Given the description of an element on the screen output the (x, y) to click on. 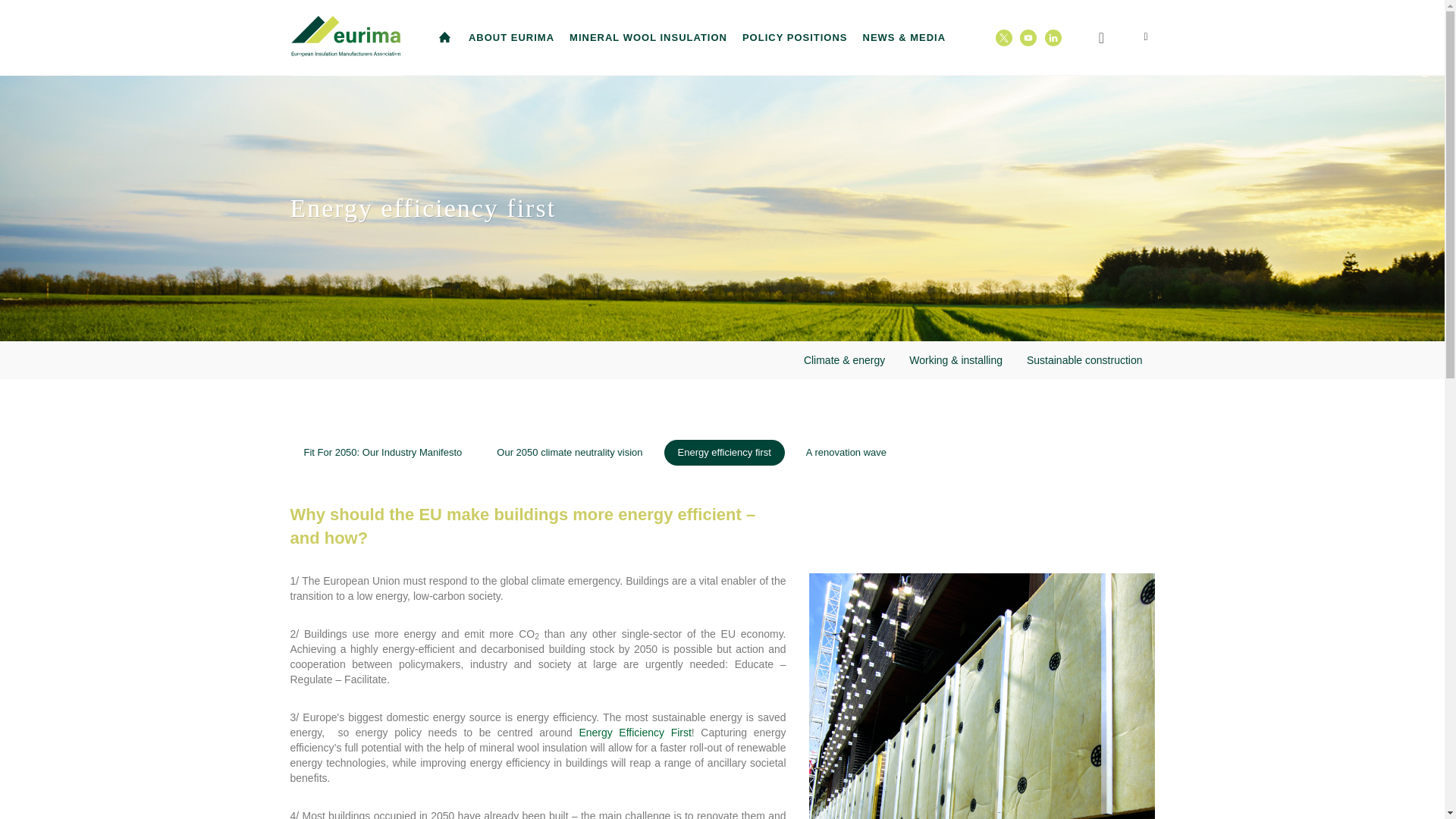
MINERAL WOOL INSULATION (648, 38)
ABOUT EURIMA (511, 38)
POLICY POSITIONS (795, 38)
